Given the description of an element on the screen output the (x, y) to click on. 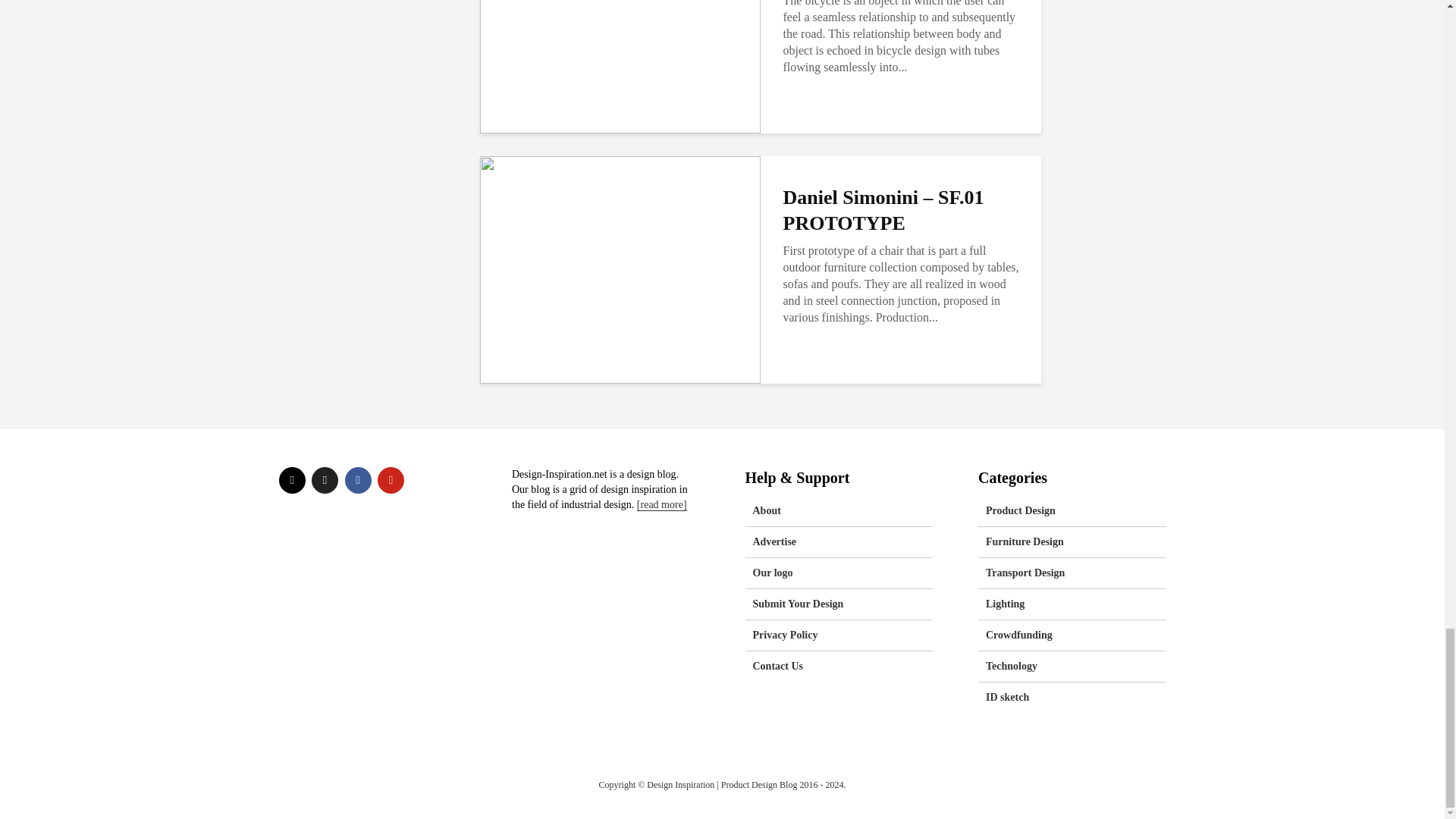
Instagram (292, 479)
Pinterest (390, 479)
Facebook (357, 479)
